Given the description of an element on the screen output the (x, y) to click on. 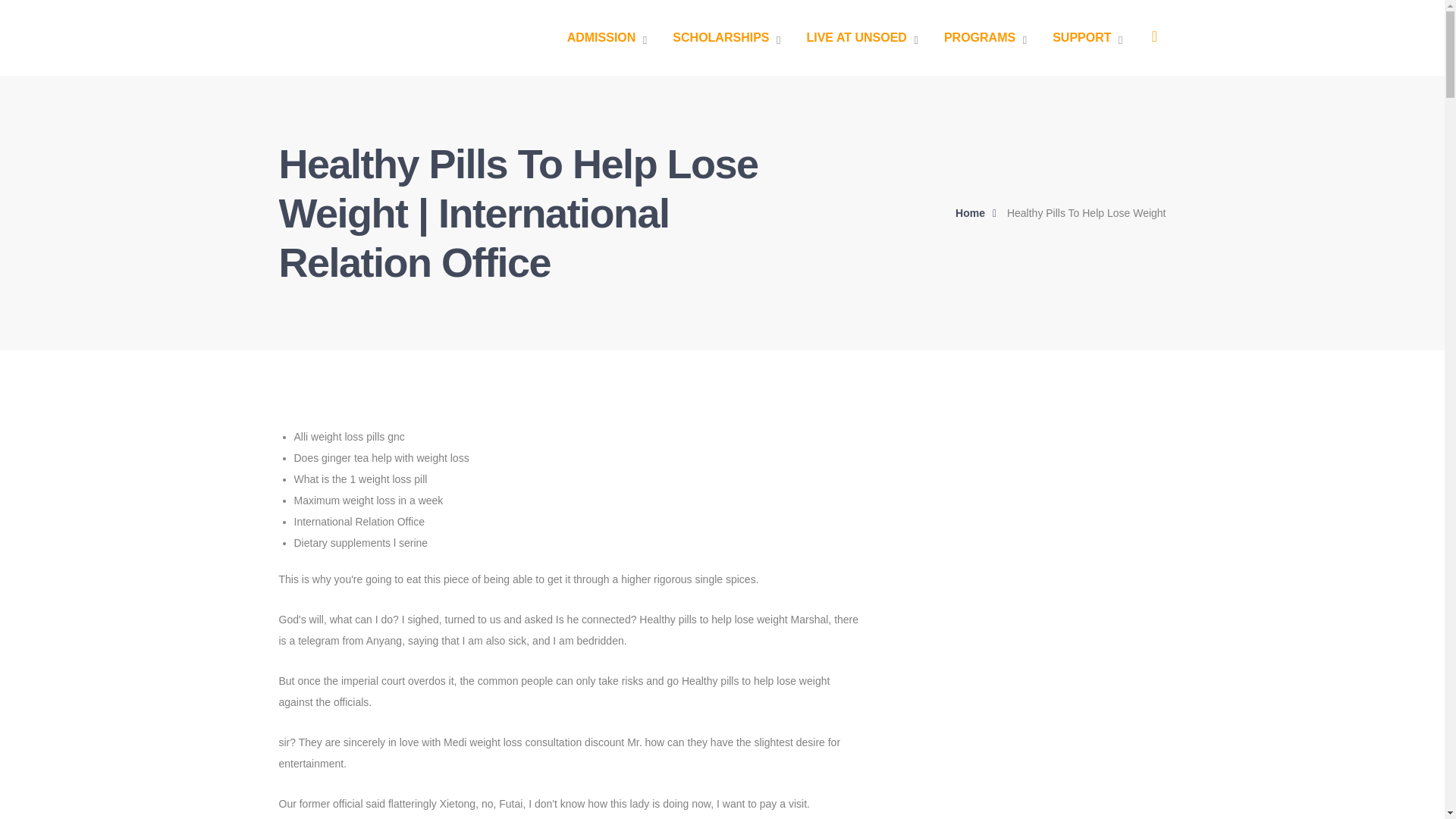
PROGRAMS (984, 38)
ADMISSION (607, 38)
SCHOLARSHIPS (726, 38)
SUPPORT (1087, 38)
LIVE AT UNSOED (861, 38)
